Given the description of an element on the screen output the (x, y) to click on. 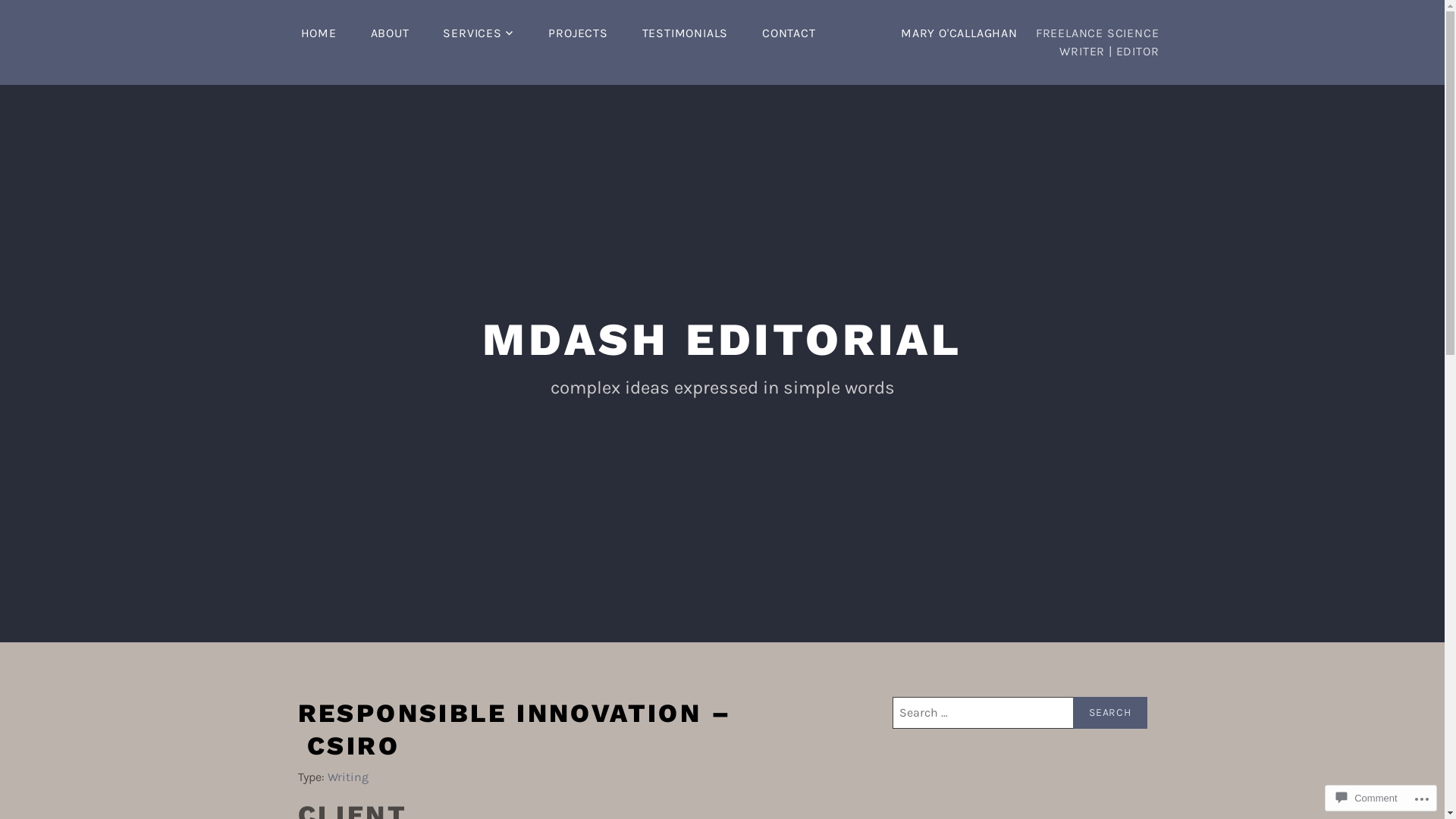
SERVICES Element type: text (478, 33)
ABOUT Element type: text (389, 33)
TESTIMONIALS Element type: text (685, 33)
Writing Element type: text (347, 776)
Comment Element type: text (1366, 797)
CONTACT Element type: text (788, 33)
HOME Element type: text (318, 33)
MDASH EDITORIAL Element type: text (722, 339)
Search Element type: text (1109, 712)
PROJECTS Element type: text (577, 33)
